Given the description of an element on the screen output the (x, y) to click on. 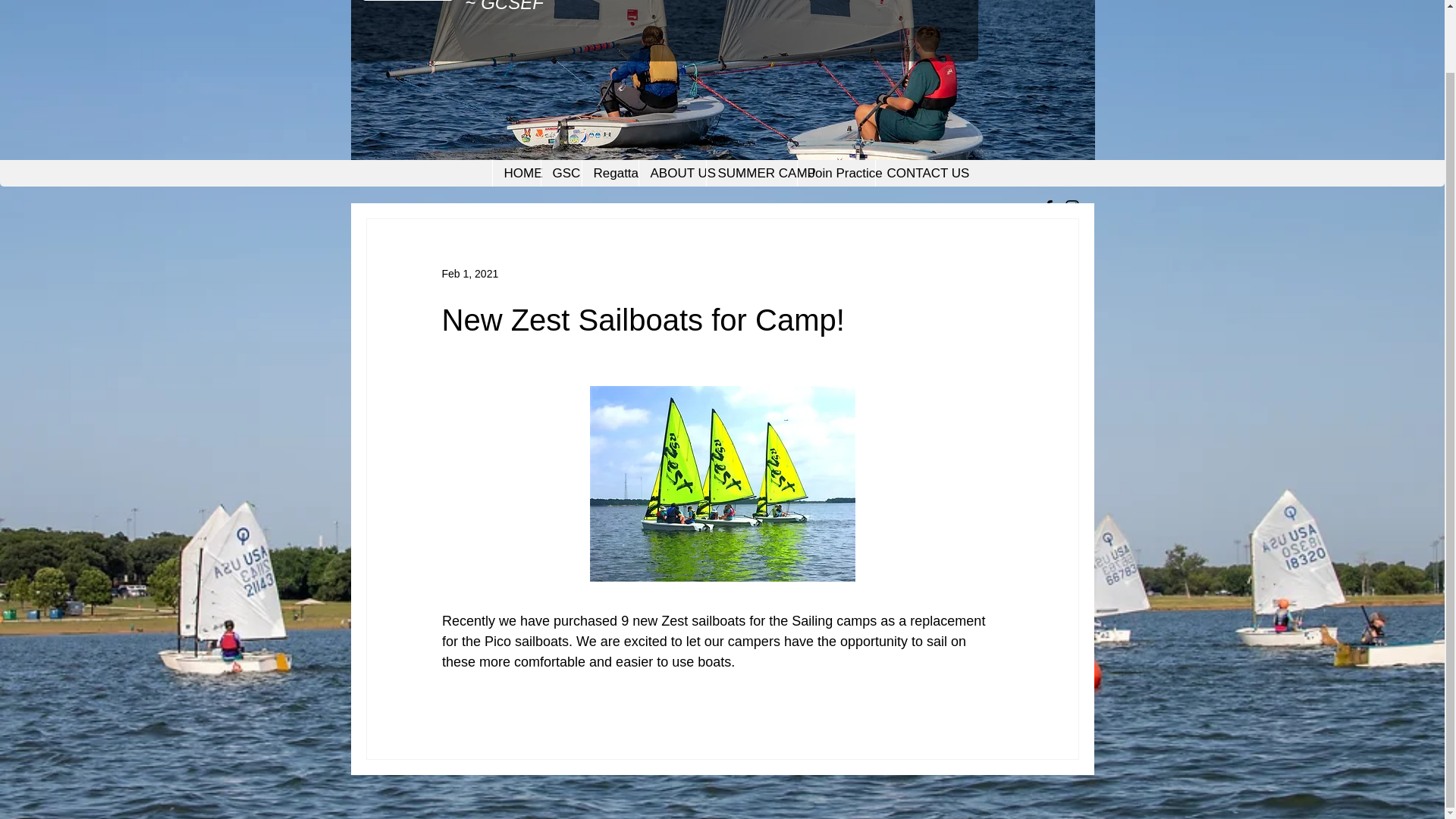
Join Practice (835, 172)
CONTACT US (914, 172)
ABOUT US (672, 172)
HOME (516, 172)
SUMMER CAMP (750, 172)
Feb 1, 2021 (469, 272)
Regatta (608, 172)
GSC (560, 172)
